Given the description of an element on the screen output the (x, y) to click on. 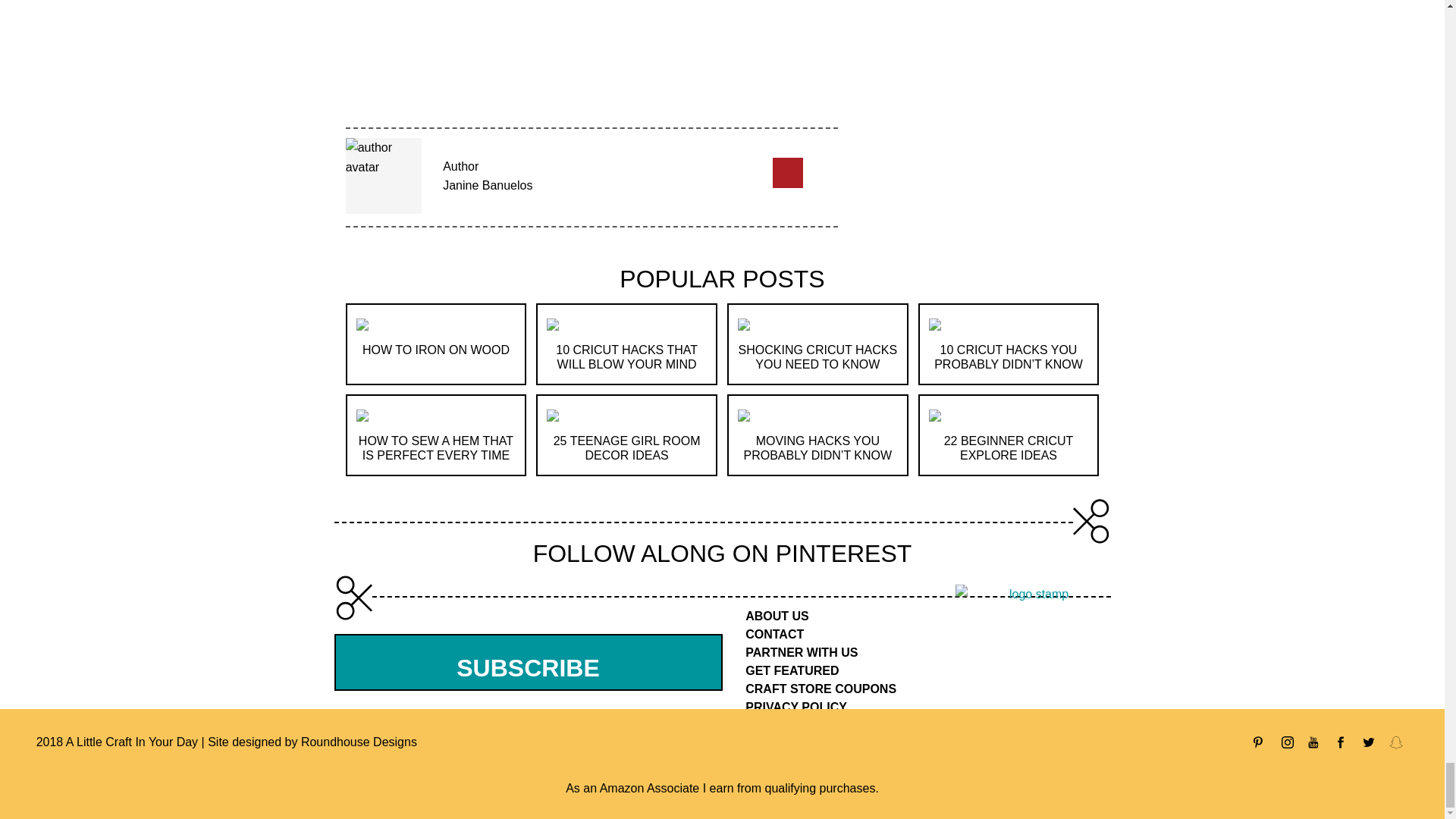
How To Iron On Wood (435, 349)
10 Cricut Hacks That Will Blow Your Mind (626, 357)
How to Sew a Hem That Is Perfect Every Time (435, 447)
How to Sew a Hem That Is Perfect Every Time (362, 413)
Shocking Cricut Hacks You Need To Know (818, 357)
10 Cricut Hacks That Will Blow Your Mind (553, 323)
How To Iron On Wood (362, 323)
25 Teenage Girl Room Decor Ideas (626, 447)
Shocking Cricut Hacks You Need To Know (743, 323)
25 Teenage Girl Room Decor Ideas (553, 413)
